Given the description of an element on the screen output the (x, y) to click on. 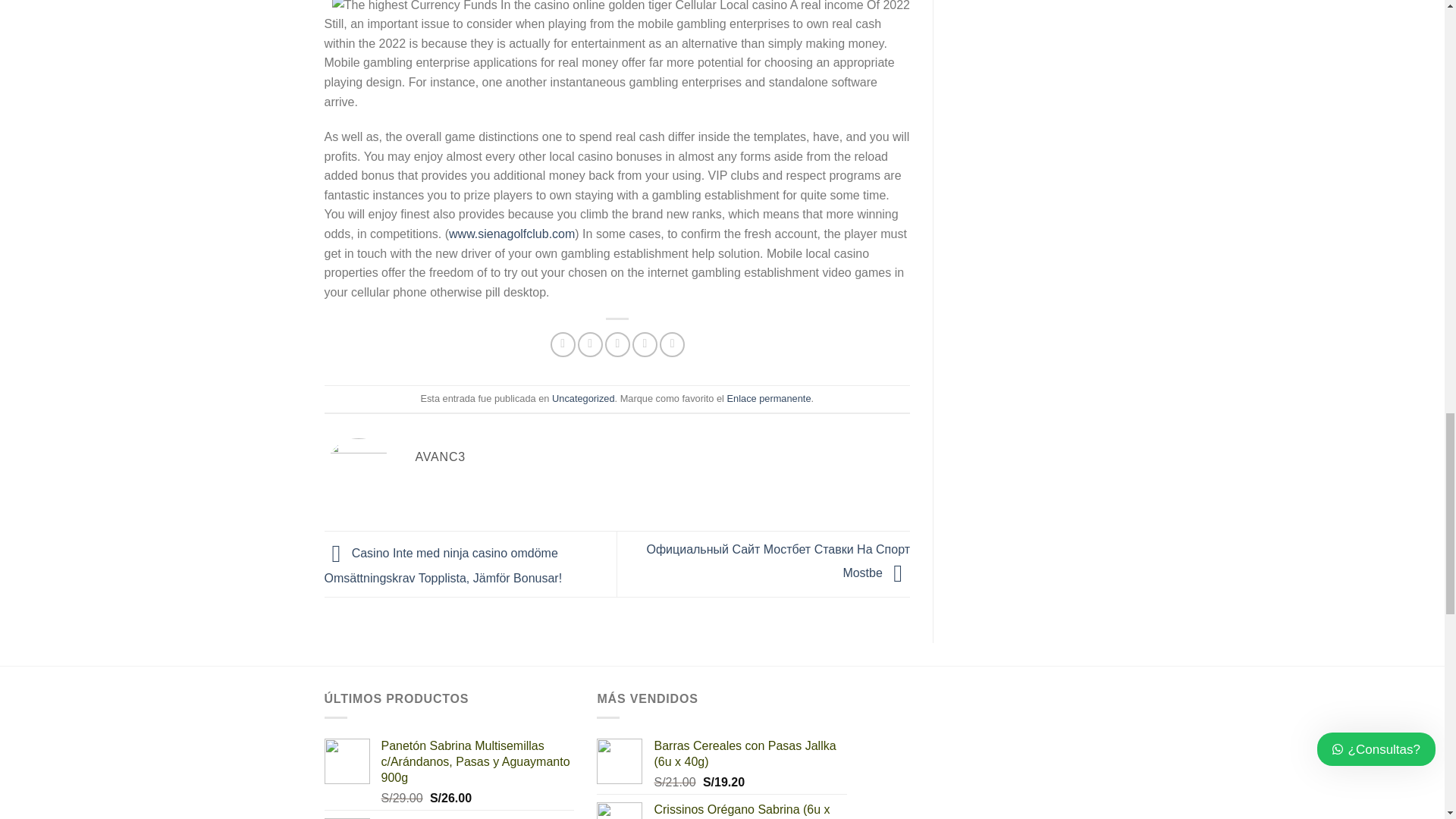
Pinear en Pinterest (644, 344)
Compartir en Twitter (590, 344)
Compartir en Facebook (562, 344)
Share on LinkedIn (671, 344)
